Given the description of an element on the screen output the (x, y) to click on. 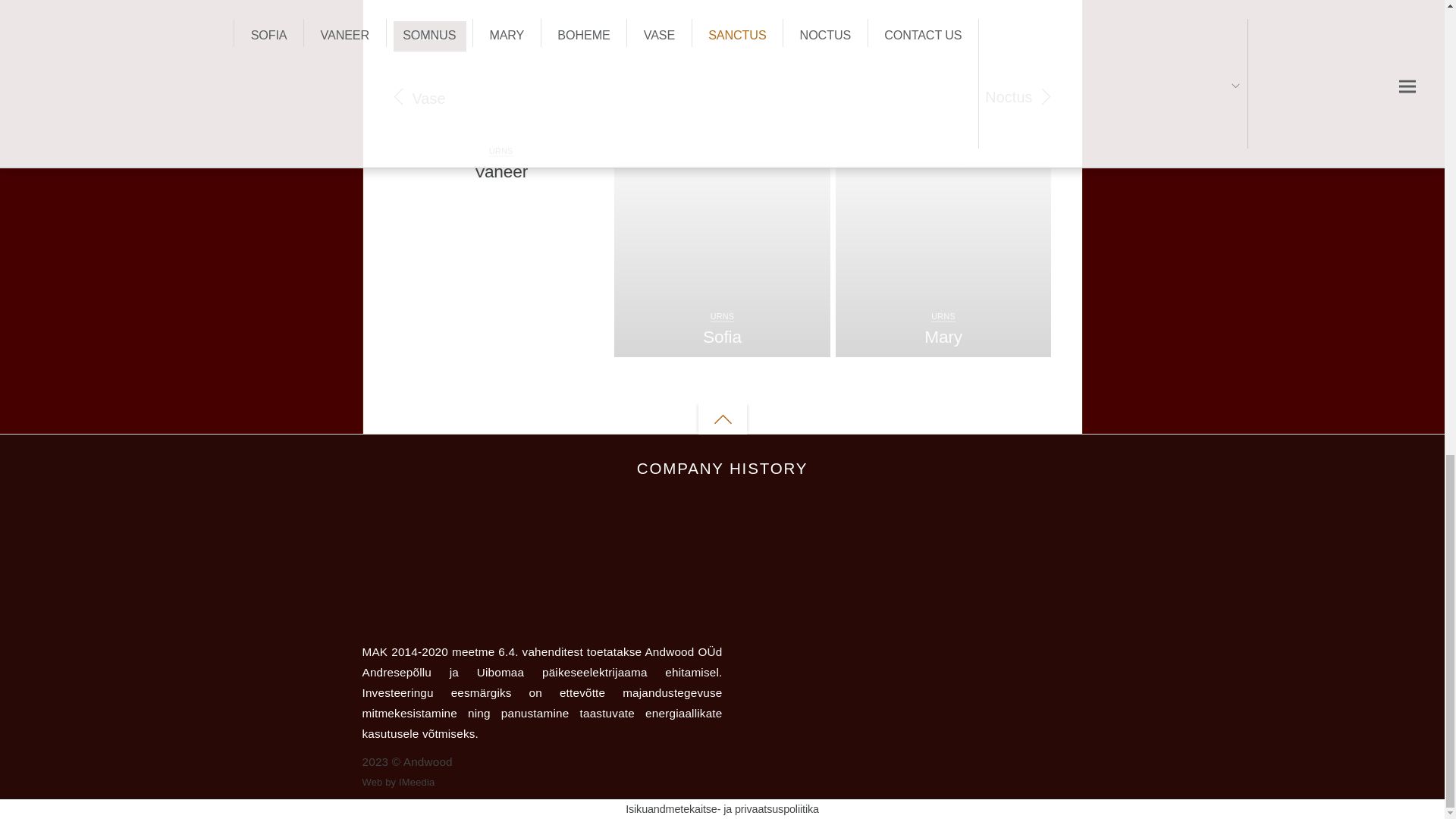
Send (429, 36)
Vaneer (500, 170)
Noctus (1008, 96)
URNS (943, 316)
URNS (722, 316)
Sofia (722, 336)
Sofia (722, 336)
COMPANY HISTORY (721, 468)
Vase (428, 97)
Send (429, 36)
